Given the description of an element on the screen output the (x, y) to click on. 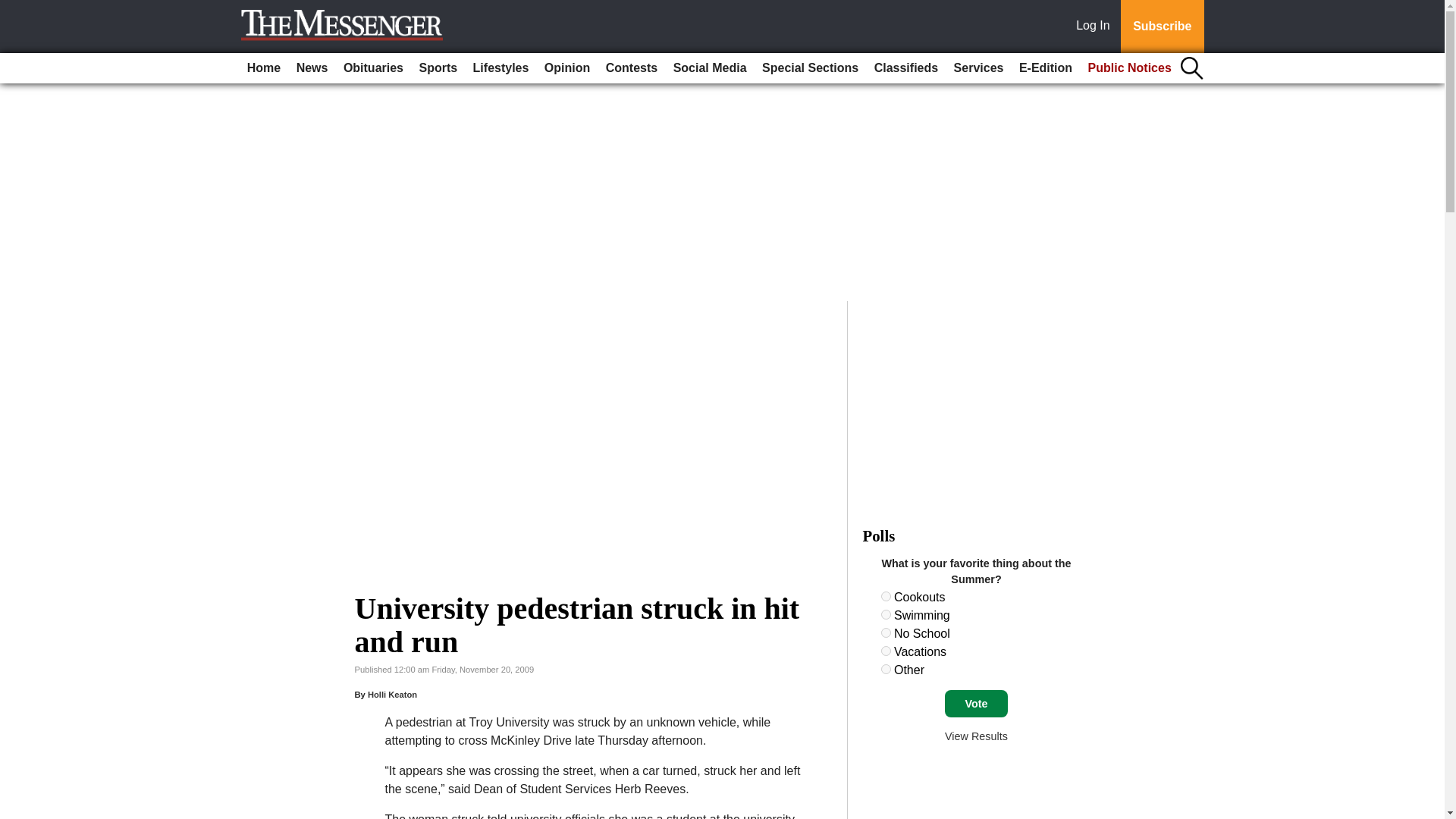
Special Sections (809, 68)
View Results Of This Poll (975, 736)
Social Media (709, 68)
Classifieds (905, 68)
7277 (885, 651)
Log In (1095, 26)
Lifestyles (501, 68)
7278 (885, 669)
Opinion (566, 68)
Services (978, 68)
7274 (885, 596)
7275 (885, 614)
Subscribe (1162, 26)
News (311, 68)
Obituaries (373, 68)
